Given the description of an element on the screen output the (x, y) to click on. 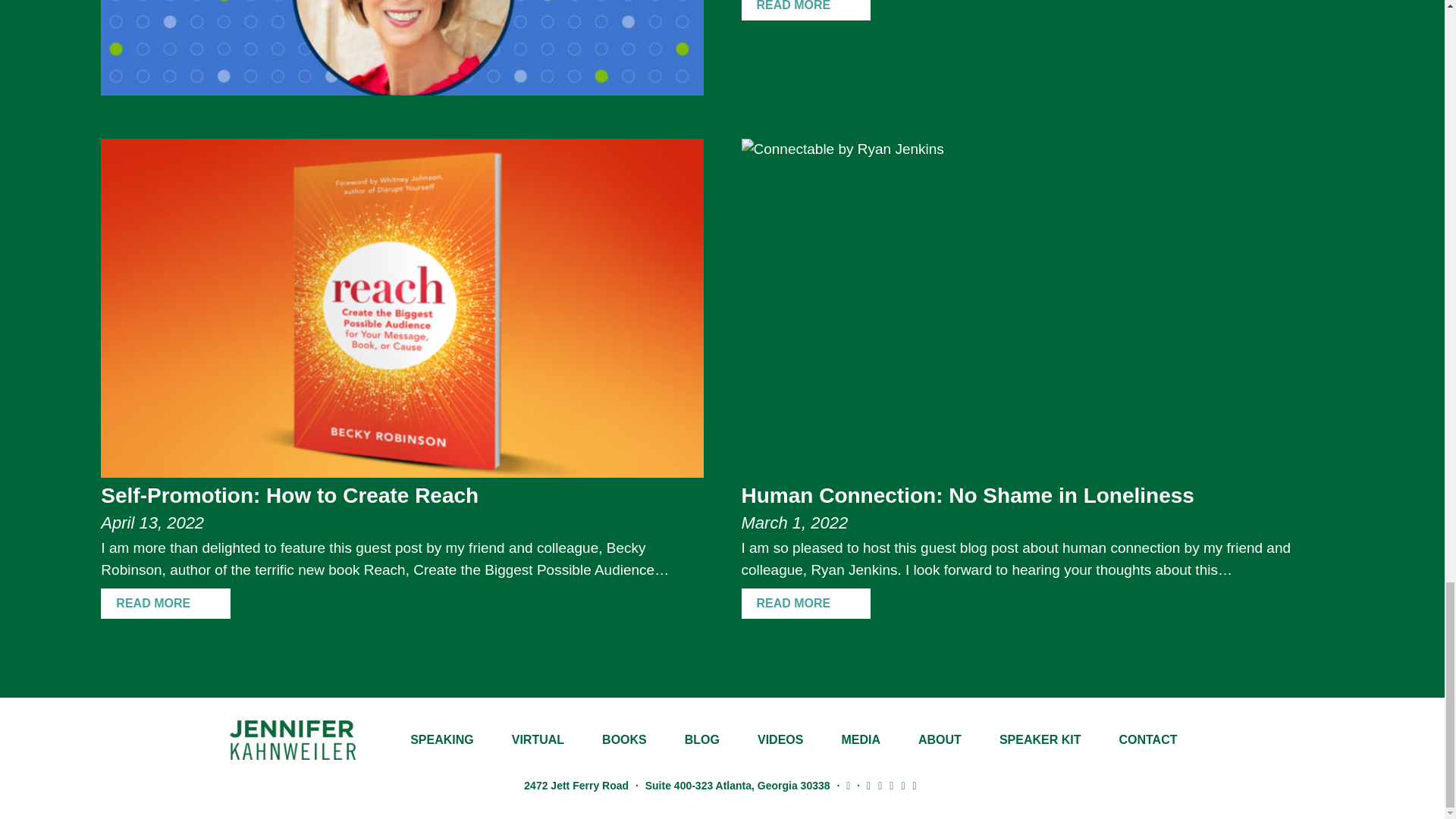
Follow Jennifer Kahnweiler on Twitter (880, 785)
Follow Jennifer Kahnweiler on LinkedIn (869, 785)
Follow Jennifer Kahnweiler on Instagram (890, 785)
Follow Jennifer Kahnweiler on YouTube (914, 785)
Follow Jennifer Kahnweiler on Facebook (902, 785)
jk-logo-green-400 (291, 740)
